Given the description of an element on the screen output the (x, y) to click on. 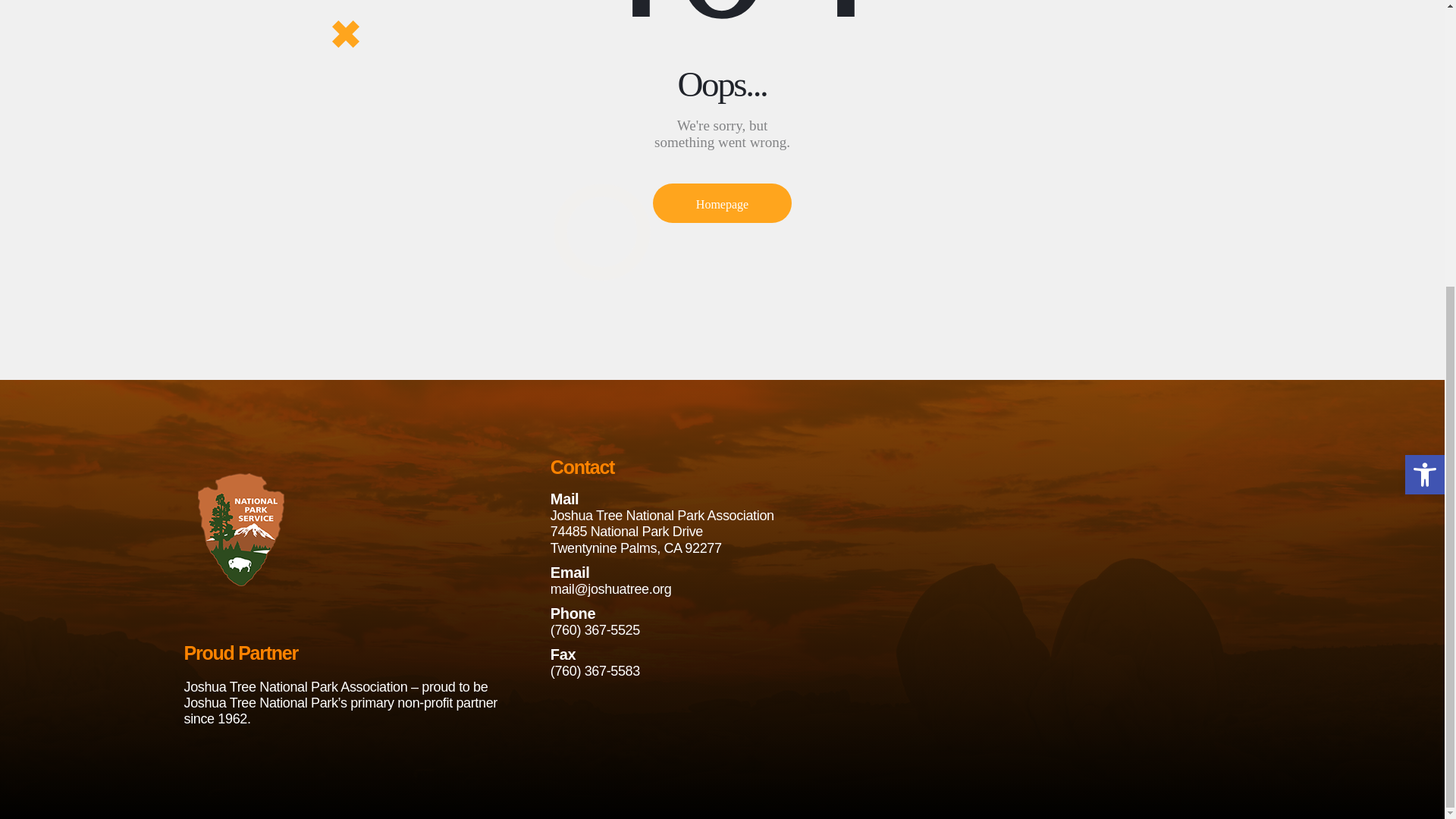
Accessibility Tools (1424, 41)
